Given the description of an element on the screen output the (x, y) to click on. 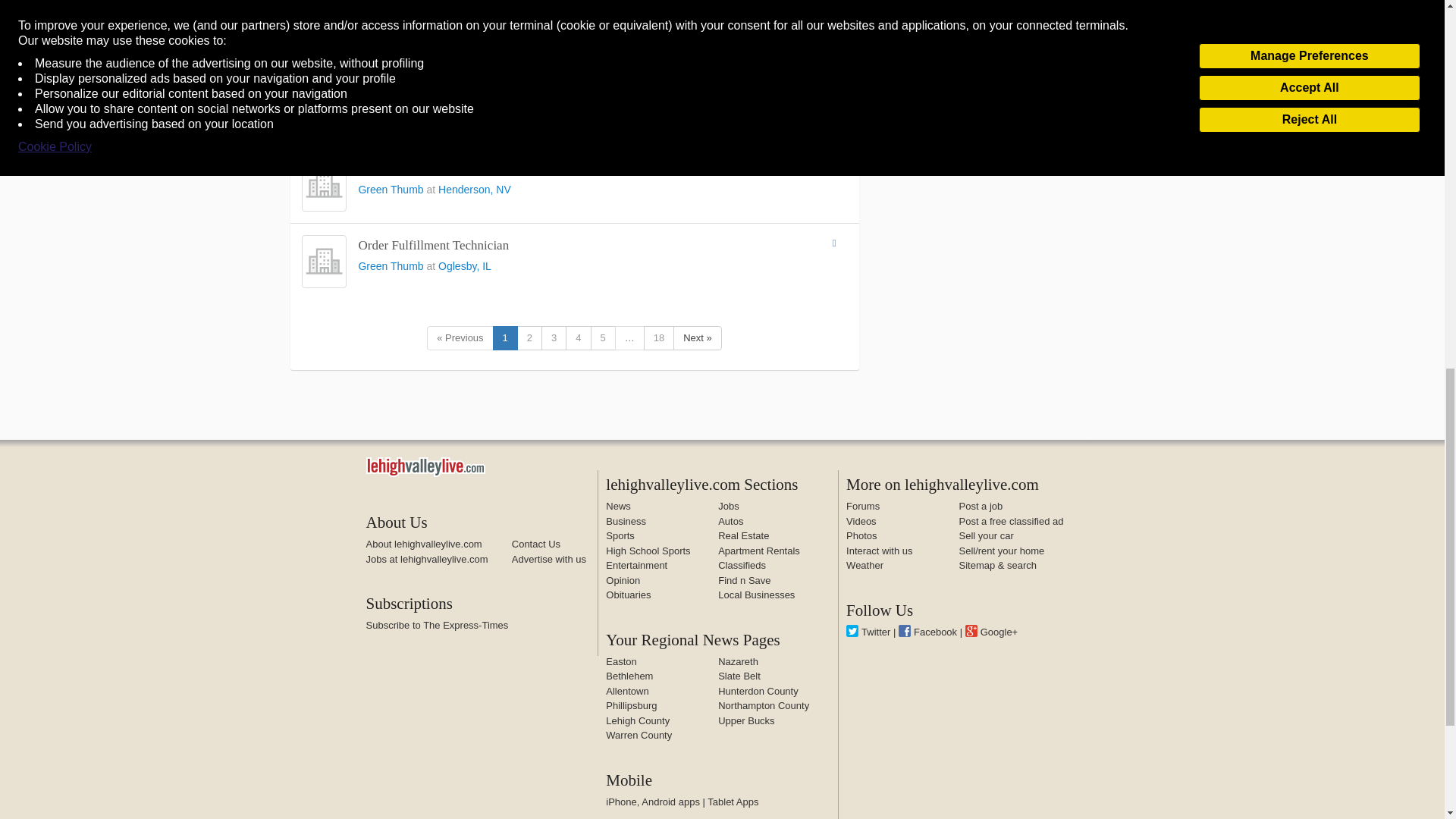
Contact Us (536, 543)
